Given the description of an element on the screen output the (x, y) to click on. 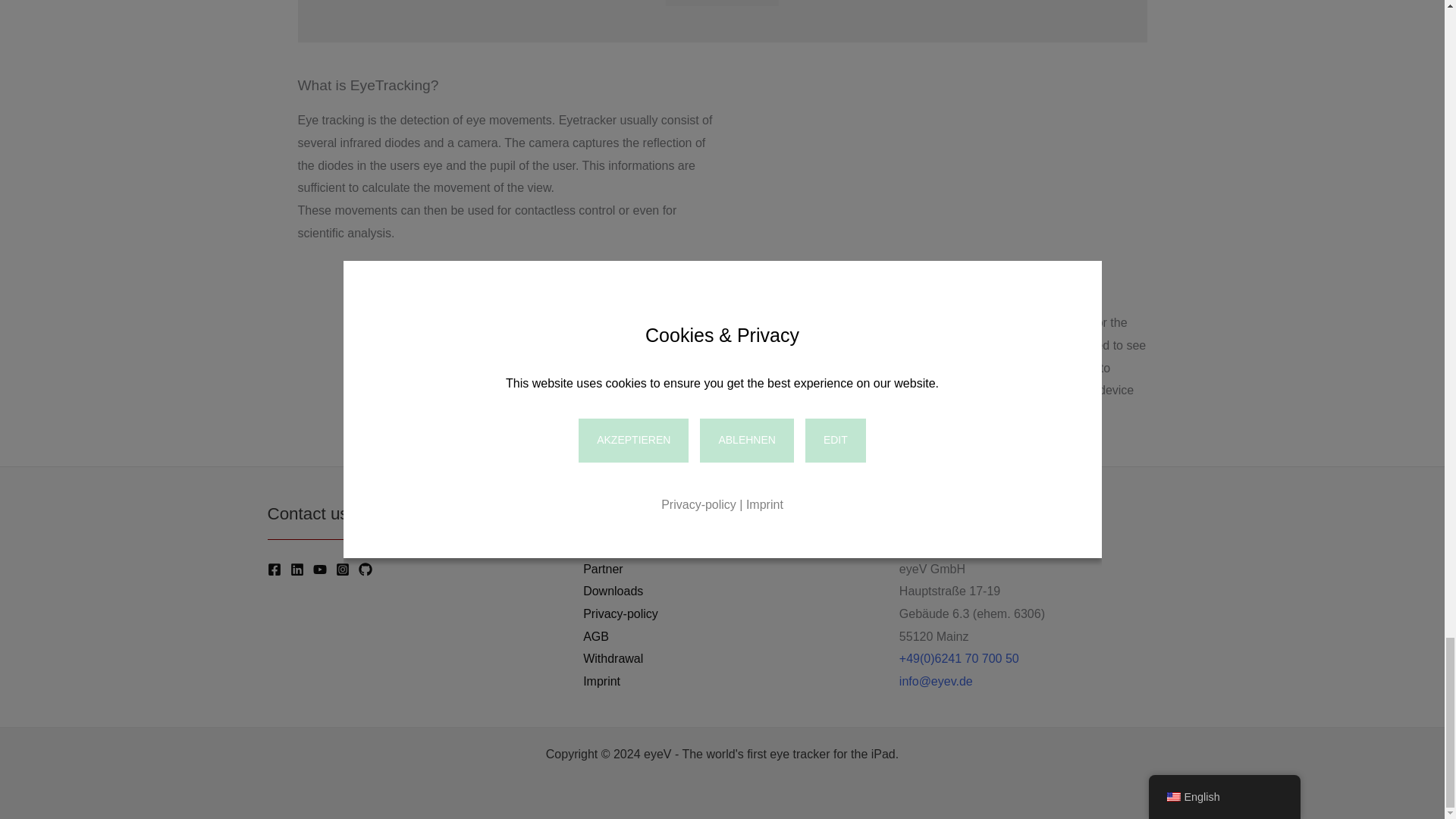
AGB (595, 636)
Withdrawal (613, 658)
Privacy-policy (620, 613)
Partner (603, 568)
Accept and view (721, 2)
Downloads (613, 590)
Imprint (601, 681)
